Given the description of an element on the screen output the (x, y) to click on. 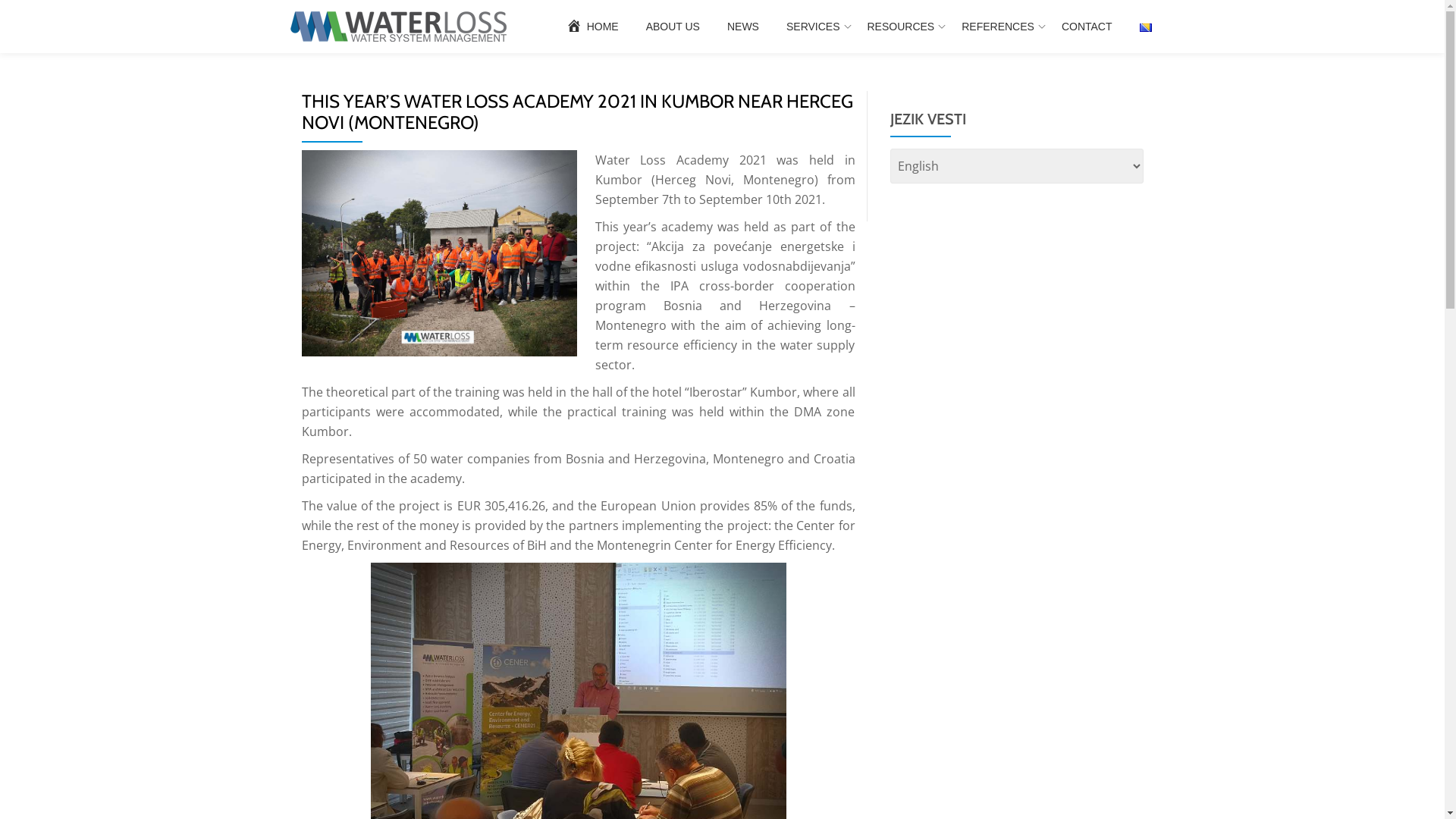
CONTACT Element type: text (1086, 26)
Skip to content Element type: text (0, 30)
ABOUT US Element type: text (672, 26)
Bosanski Element type: hover (1145, 27)
SERVICES Element type: text (813, 26)
REFERENCES Element type: text (997, 26)
RESOURCES Element type: text (901, 26)
Water Loss Ltd. Element type: hover (400, 26)
HOME Element type: text (592, 26)
NEWS Element type: text (743, 26)
